Given the description of an element on the screen output the (x, y) to click on. 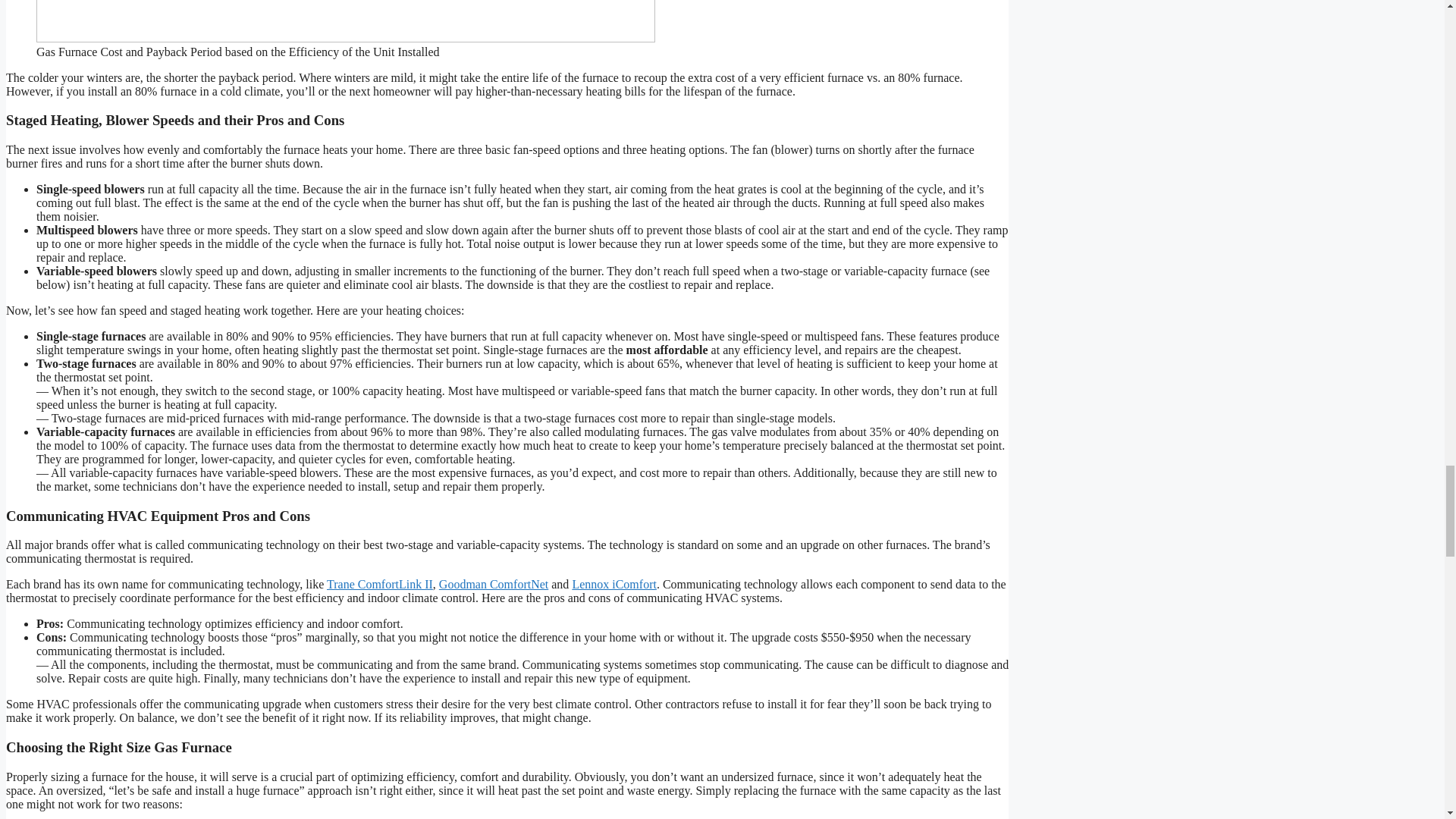
Lennox iComfort (614, 584)
Goodman ComfortNet (493, 584)
Trane ComfortLink II (379, 584)
